Given the description of an element on the screen output the (x, y) to click on. 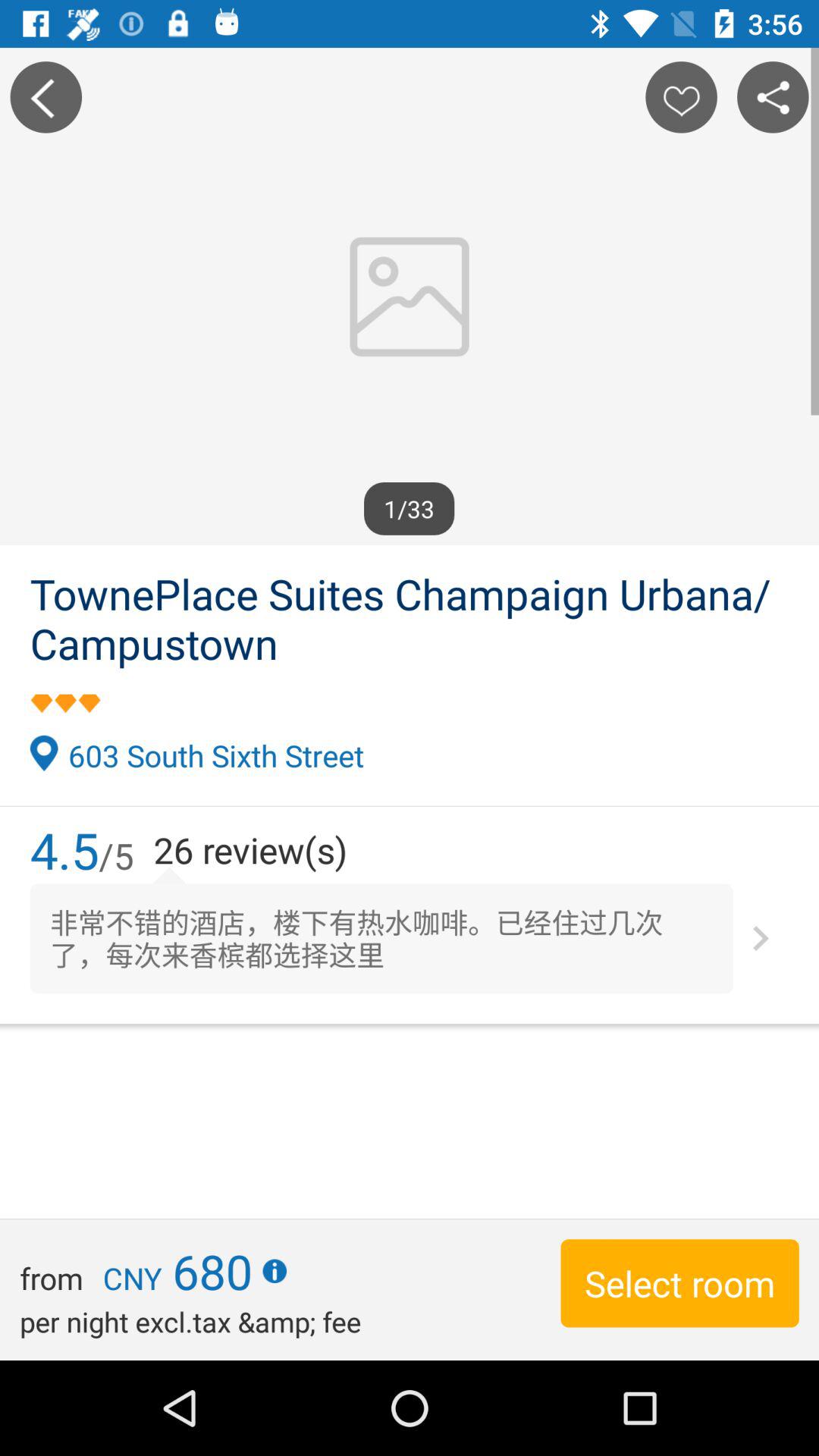
favorite the location (681, 97)
